Given the description of an element on the screen output the (x, y) to click on. 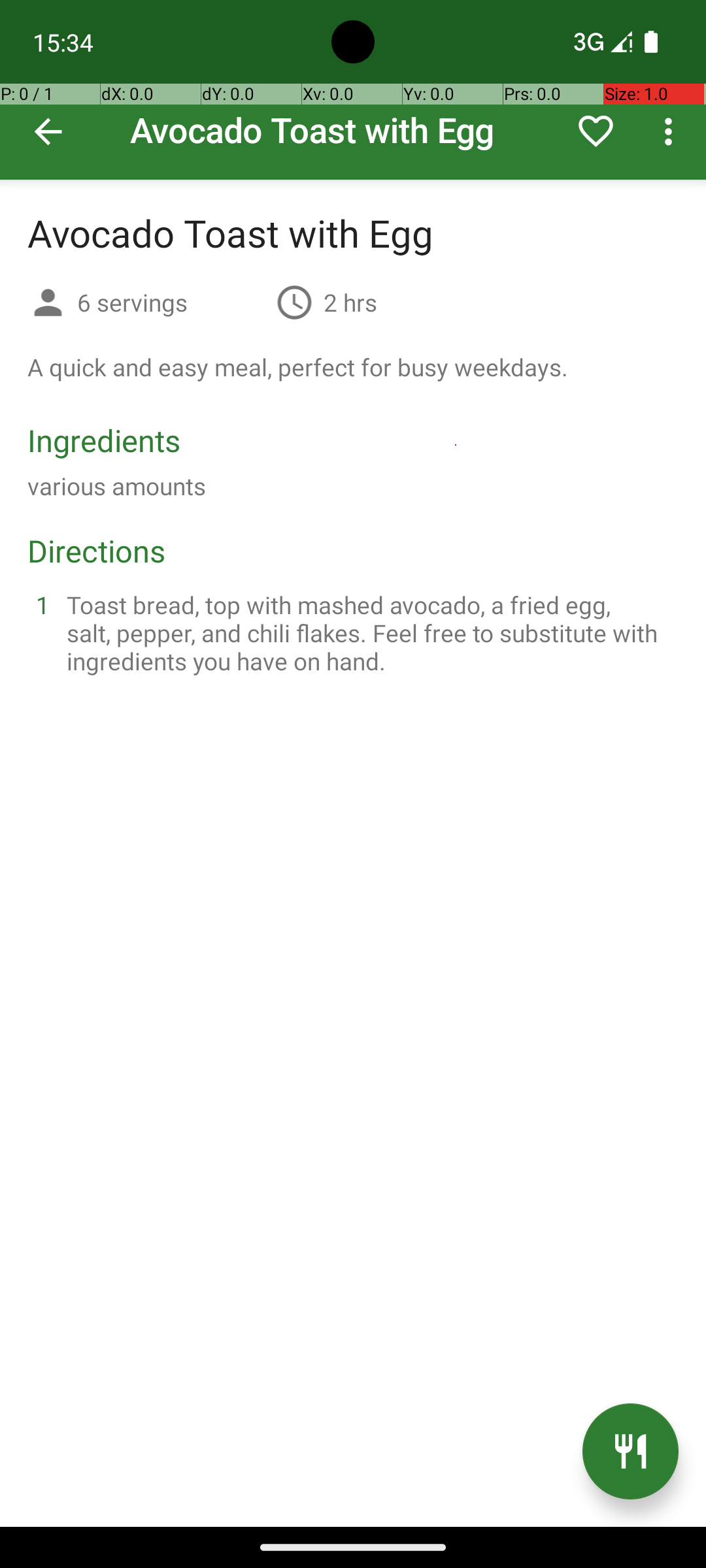
2 hrs Element type: android.widget.TextView (350, 301)
various amounts Element type: android.widget.TextView (116, 485)
Toast bread, top with mashed avocado, a fried egg, salt, pepper, and chili flakes. Feel free to substitute with ingredients you have on hand. Element type: android.widget.TextView (368, 632)
